Given the description of an element on the screen output the (x, y) to click on. 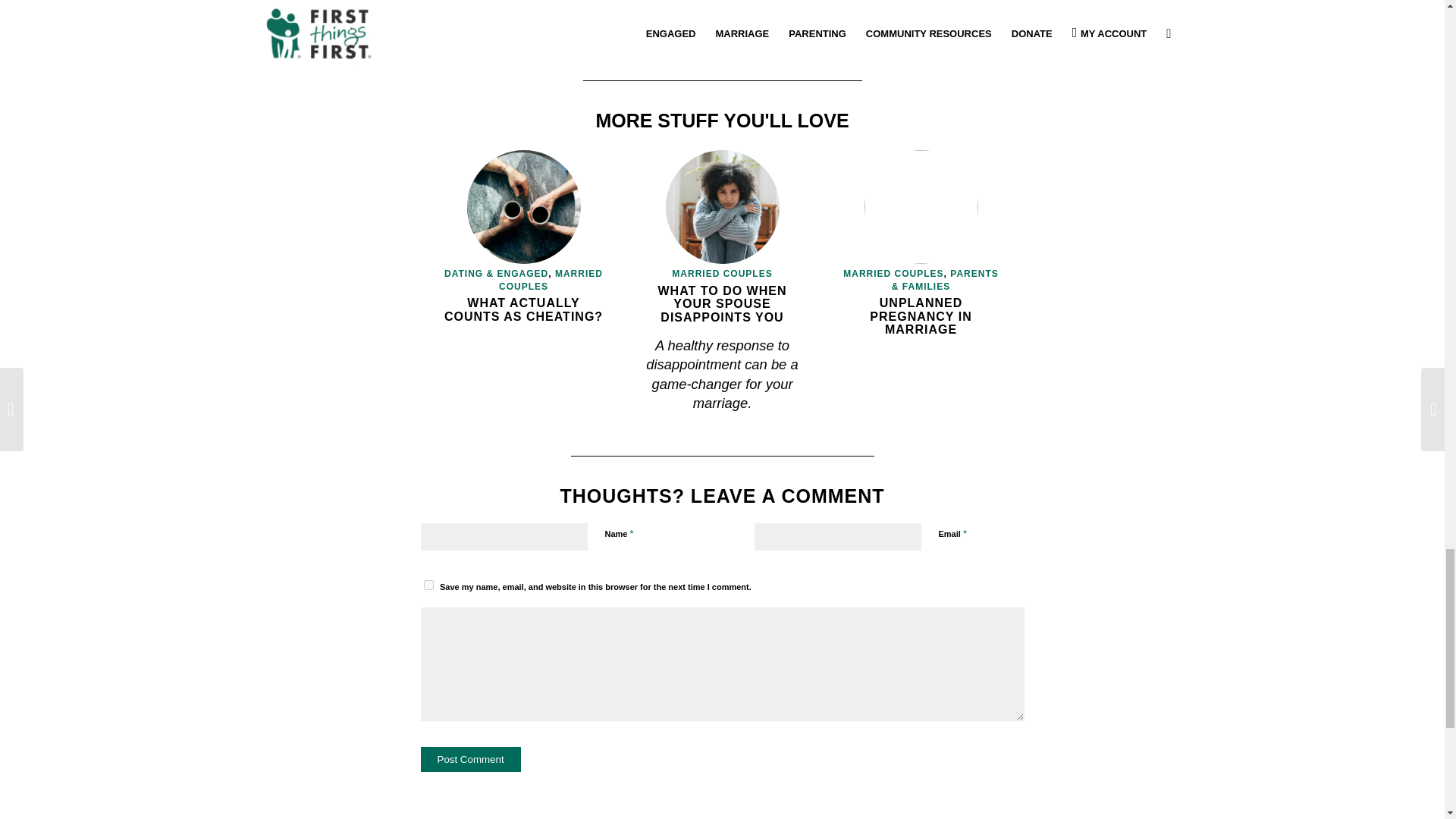
Share on Twitter (906, 34)
yes (427, 584)
MARRIED COUPLES (550, 279)
Post Comment (469, 759)
MARRIED COUPLES (721, 273)
Share via Email (988, 34)
WHAT TO DO WHEN YOUR SPOUSE DISAPPOINTS YOU (722, 303)
WHAT ACTUALLY COUNTS AS CHEATING? (523, 309)
Share on LinkedIn (947, 34)
Share on Facebook (866, 34)
